Given the description of an element on the screen output the (x, y) to click on. 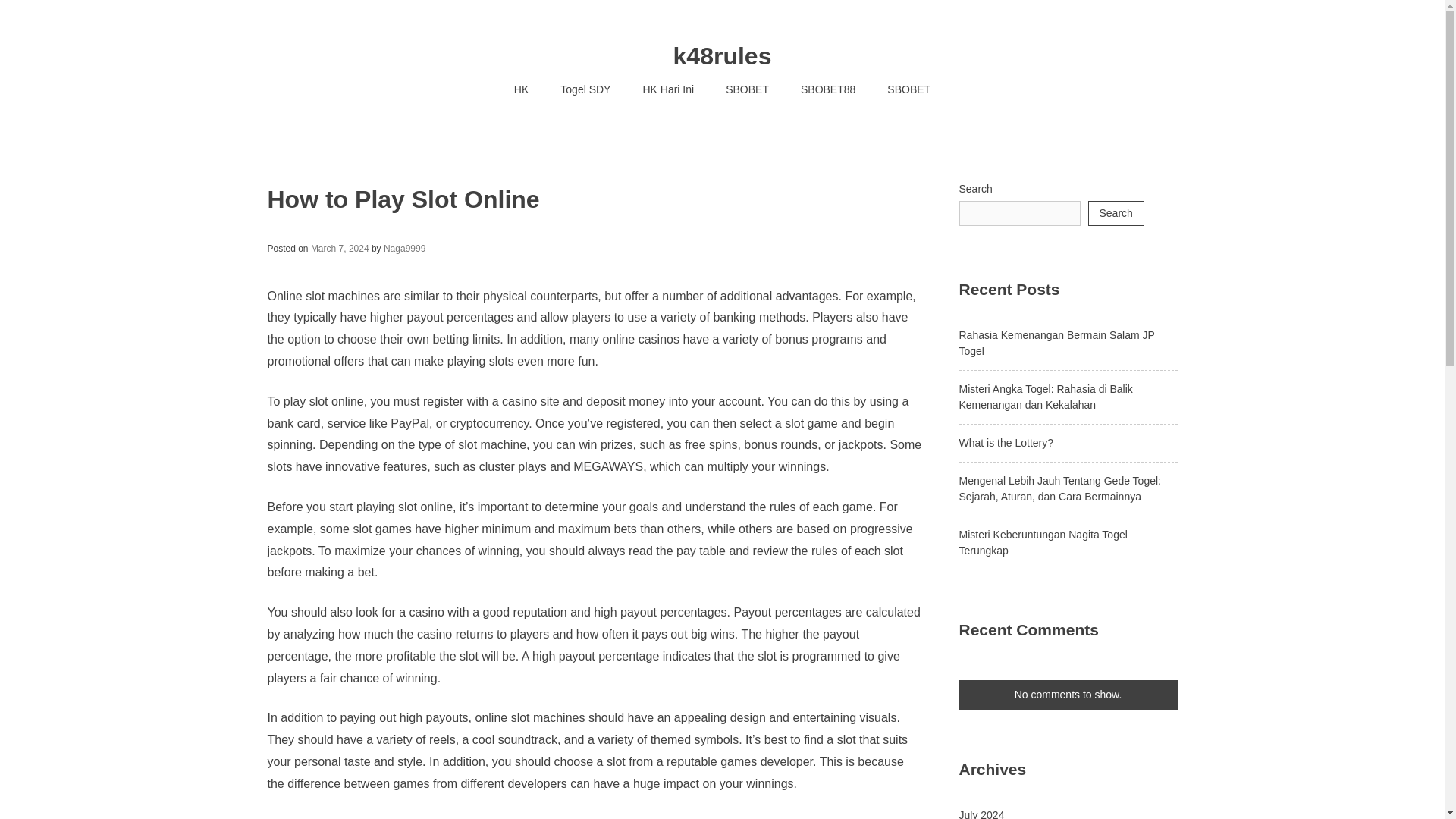
Search (1114, 213)
March 7, 2024 (340, 248)
Rahasia Kemenangan Bermain Salam JP Togel (1056, 343)
SBOBET (747, 89)
July 2024 (981, 814)
HK Hari Ini (668, 89)
SBOBET88 (827, 89)
Misteri Keberuntungan Nagita Togel Terungkap (1042, 542)
SBOBET (908, 89)
HK (520, 89)
Togel SDY (585, 89)
k48rules (721, 55)
Naga9999 (404, 248)
